Given the description of an element on the screen output the (x, y) to click on. 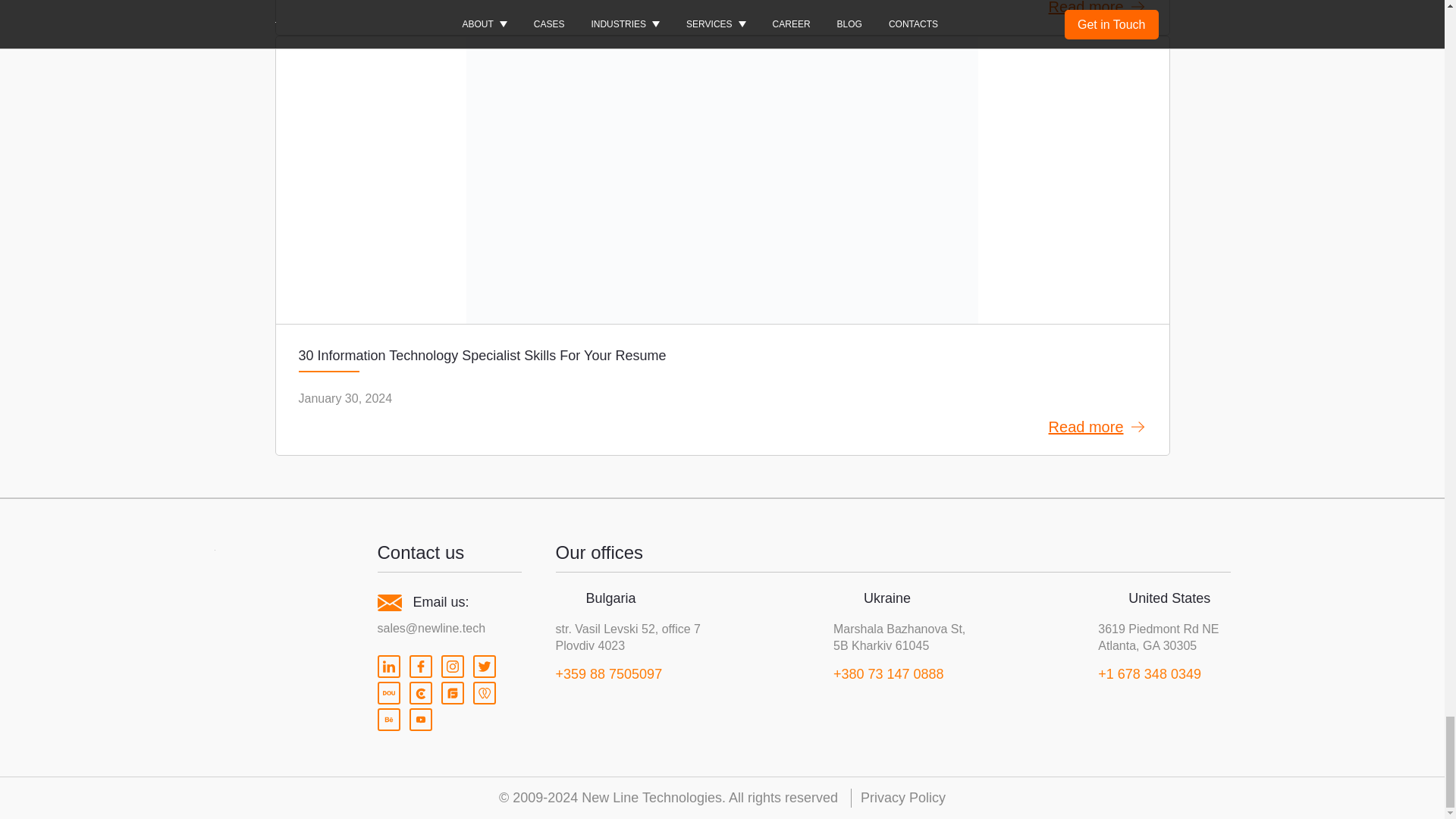
Instagram (452, 666)
Twitter (484, 666)
Overcoming Strategy: 2023 Results for New Line Technologies (722, 17)
Facebook (420, 666)
LinkedIn (388, 666)
